Given the description of an element on the screen output the (x, y) to click on. 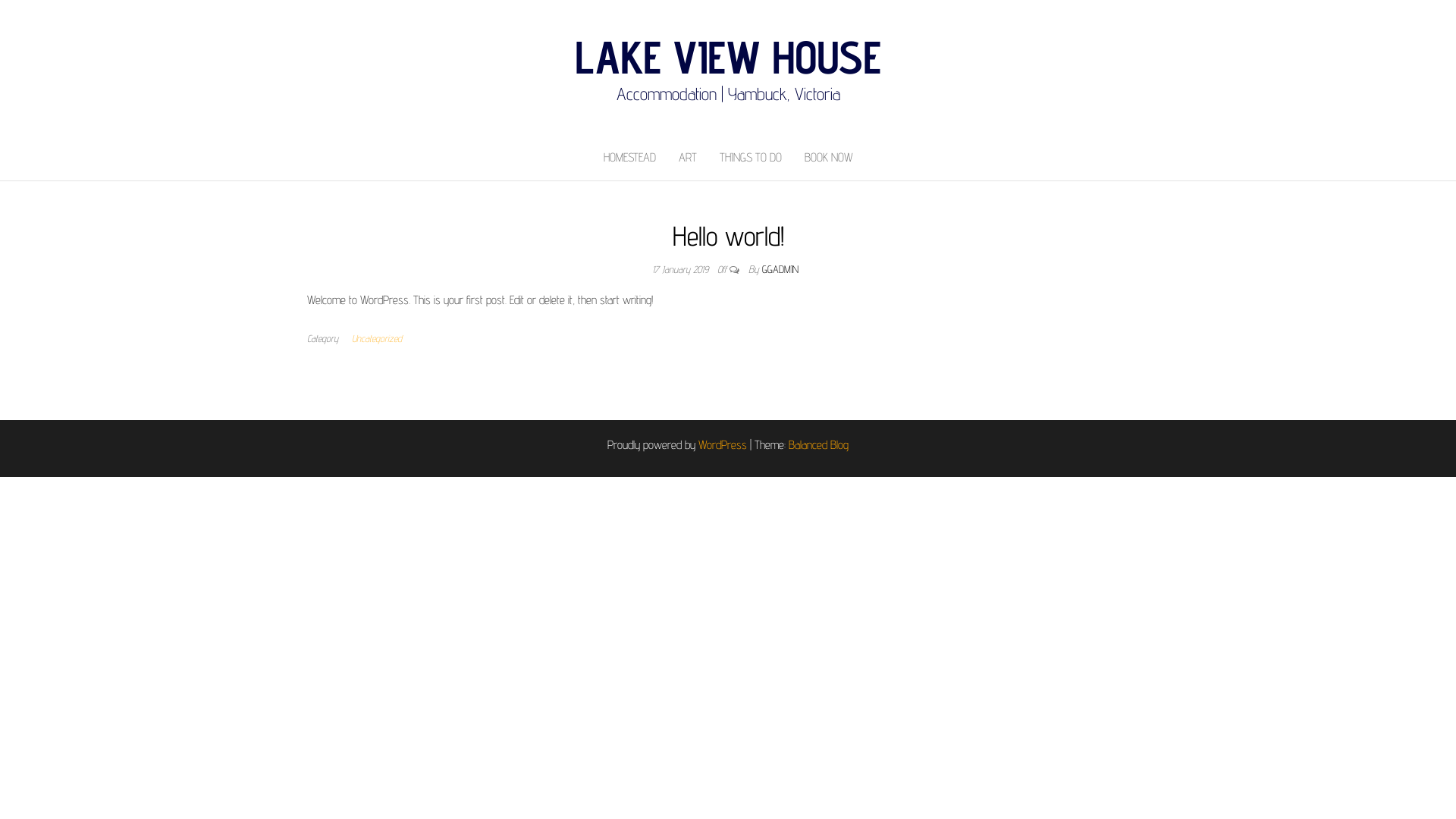
HOMESTEAD Element type: text (628, 157)
Balanced Blog Element type: text (818, 444)
THINGS TO DO Element type: text (750, 157)
ART Element type: text (687, 157)
Uncategorized Element type: text (379, 338)
BOOK NOW Element type: text (828, 157)
GGADMIN Element type: text (779, 269)
WordPress Element type: text (722, 444)
LAKE VIEW HOUSE Element type: text (727, 56)
